Given the description of an element on the screen output the (x, y) to click on. 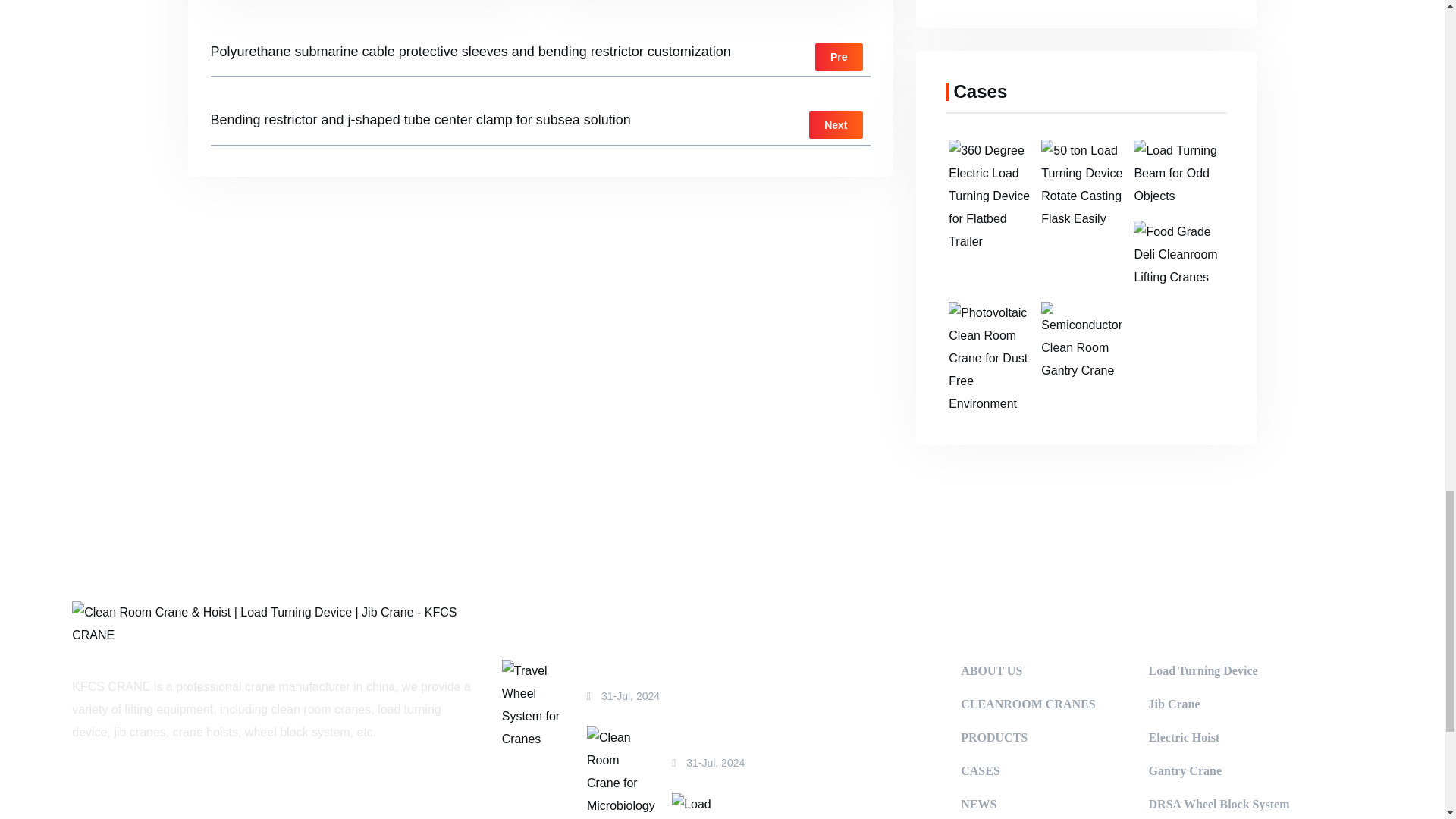
Next (835, 124)
Pre (839, 56)
